Given the description of an element on the screen output the (x, y) to click on. 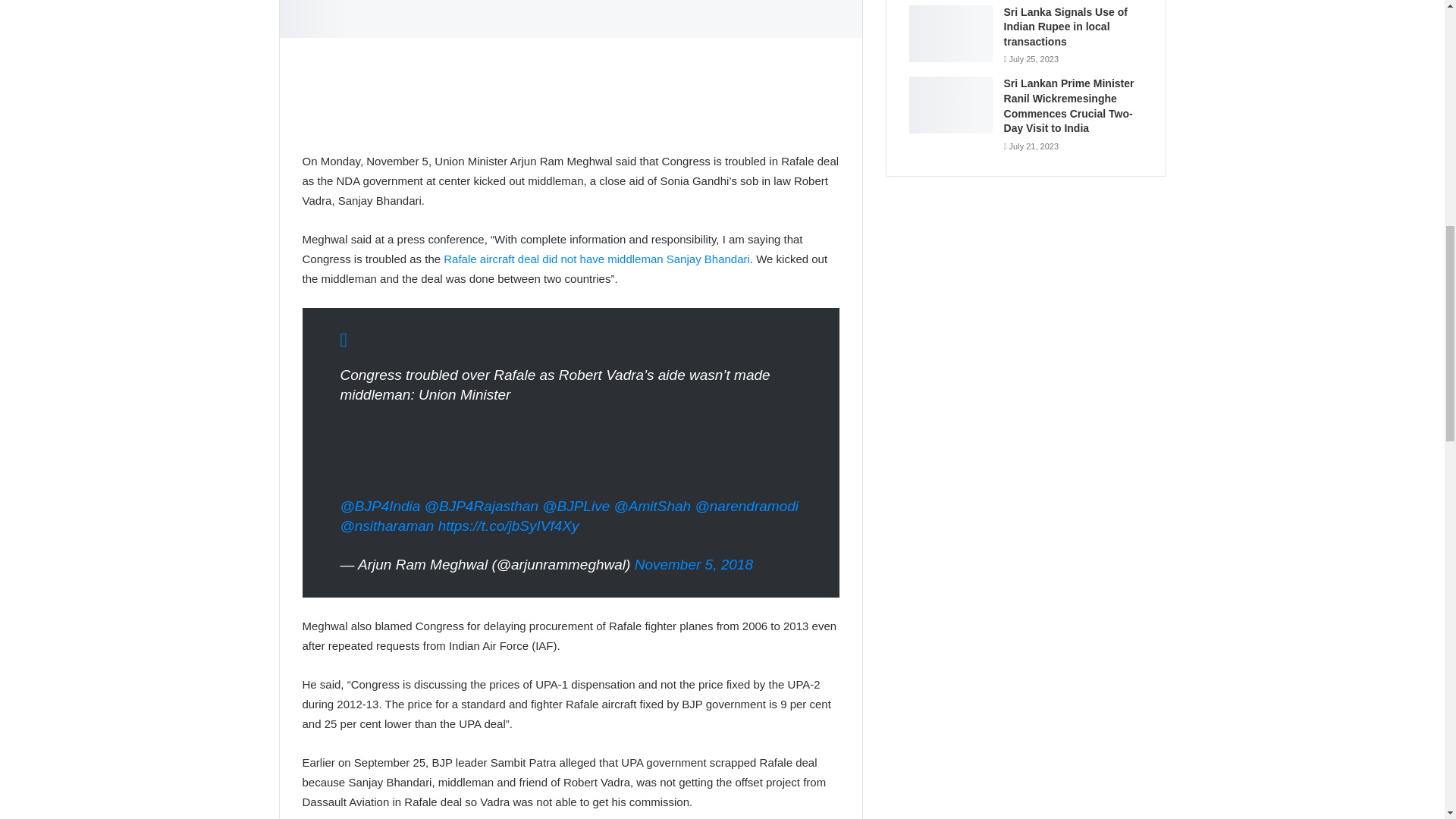
November 5, 2018 (693, 564)
Rafale aircraft deal did not have middleman Sanjay Bhandari (596, 258)
